Given the description of an element on the screen output the (x, y) to click on. 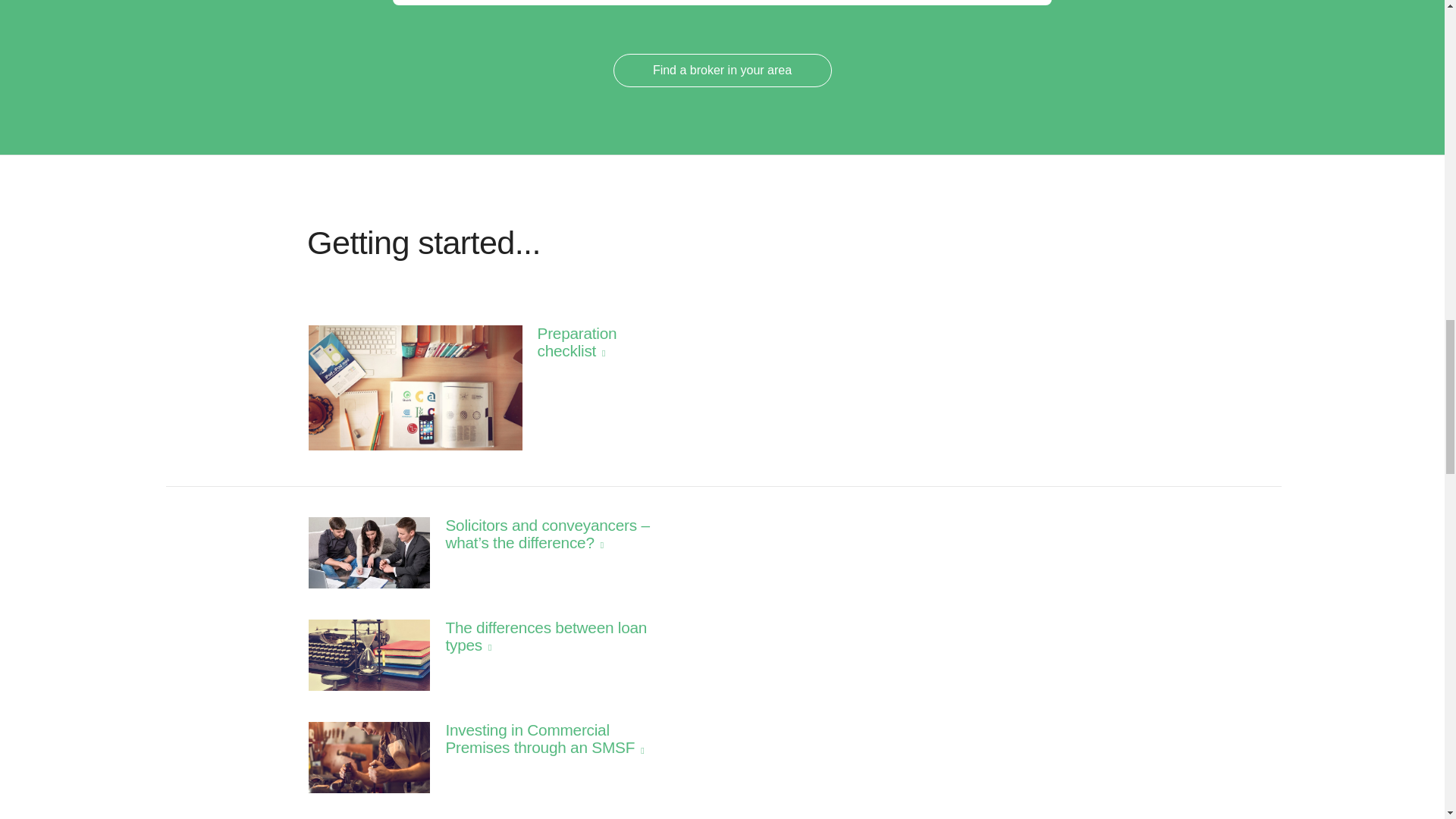
Selling your home? Here are the first steps to take (848, 814)
The differences between loan types (510, 422)
Preparation checklist (510, 128)
Investing in Commercial Premises through an SMSF (510, 524)
